Given the description of an element on the screen output the (x, y) to click on. 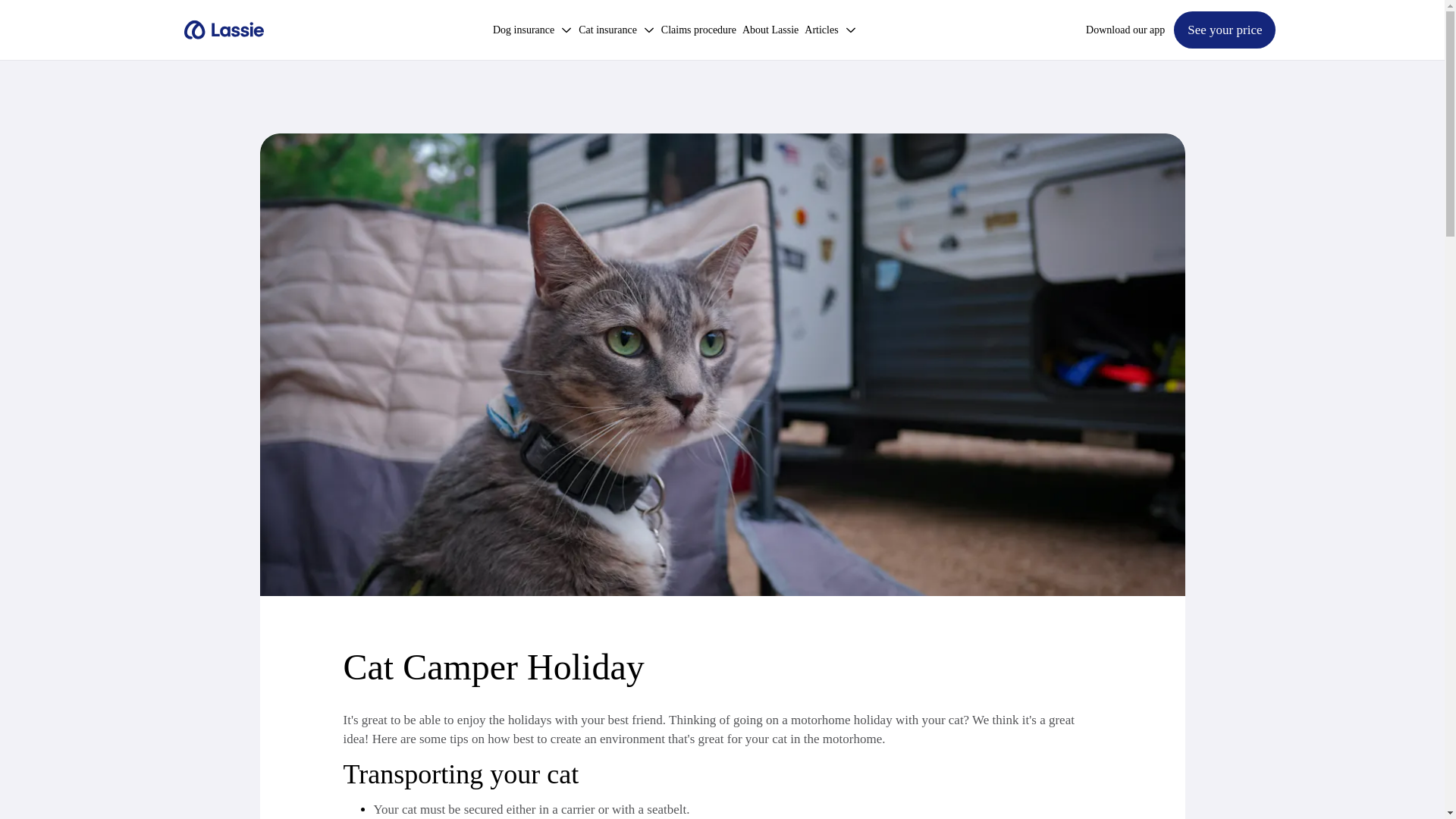
Articles (830, 29)
Download our app (1125, 29)
Claims procedure (698, 29)
See your price (1224, 30)
About Lassie (769, 29)
Dog insurance (532, 29)
Cat insurance (616, 29)
